Given the description of an element on the screen output the (x, y) to click on. 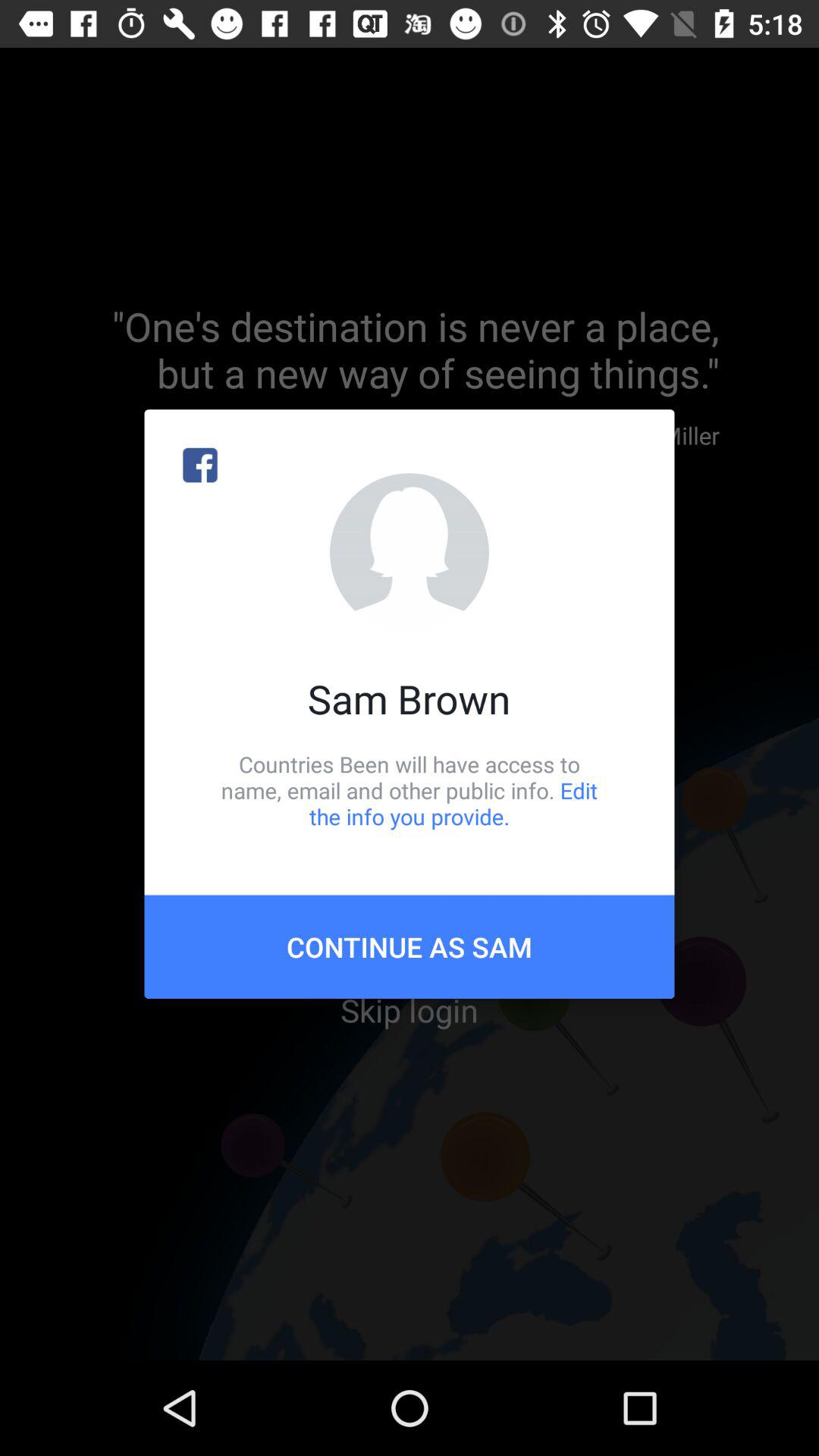
swipe until the continue as sam item (409, 946)
